Given the description of an element on the screen output the (x, y) to click on. 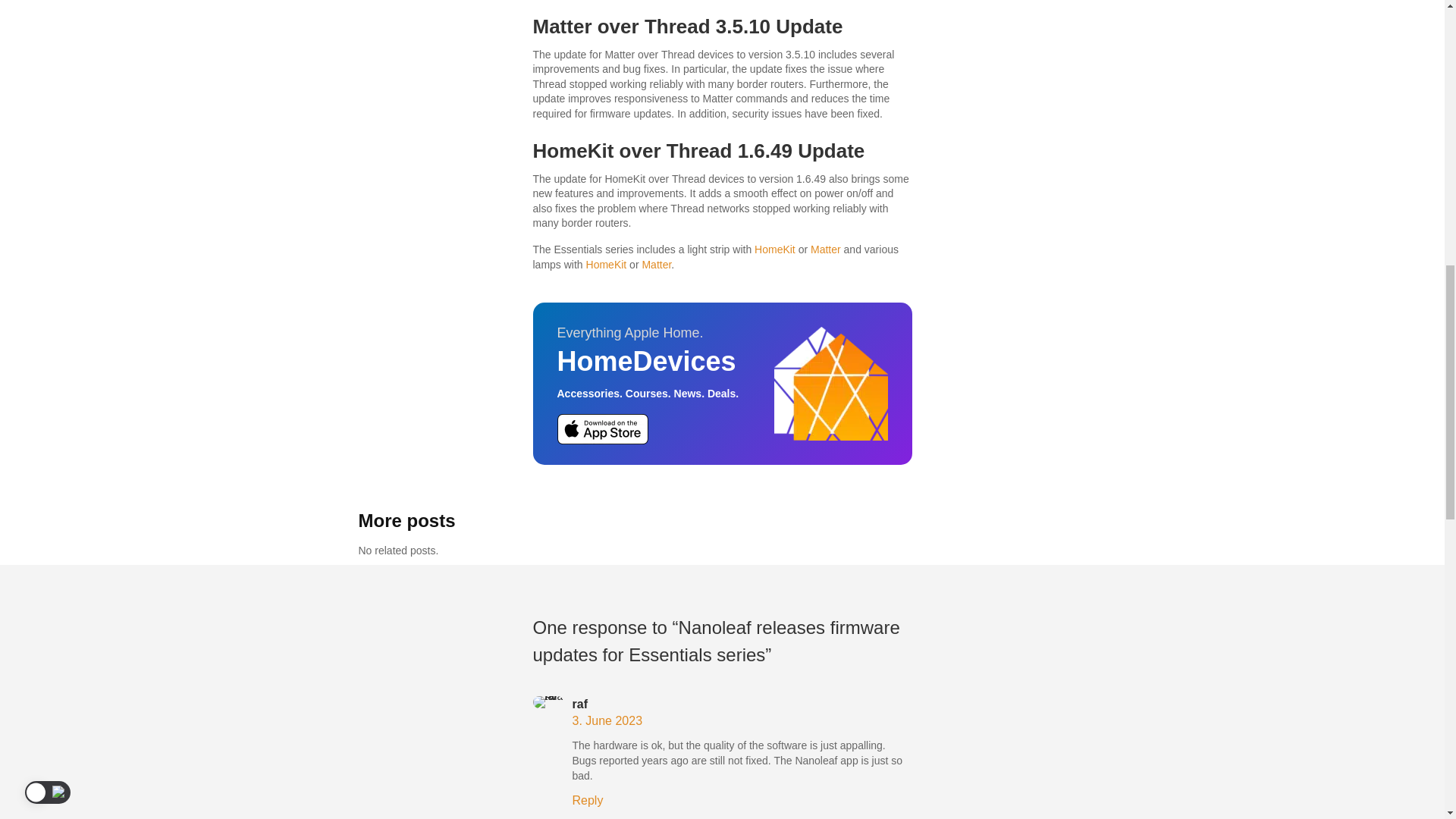
3. June 2023 (607, 720)
HomeKit (606, 264)
HomeKit (774, 249)
Matter (656, 264)
Reply (587, 799)
Matter (825, 249)
